Given the description of an element on the screen output the (x, y) to click on. 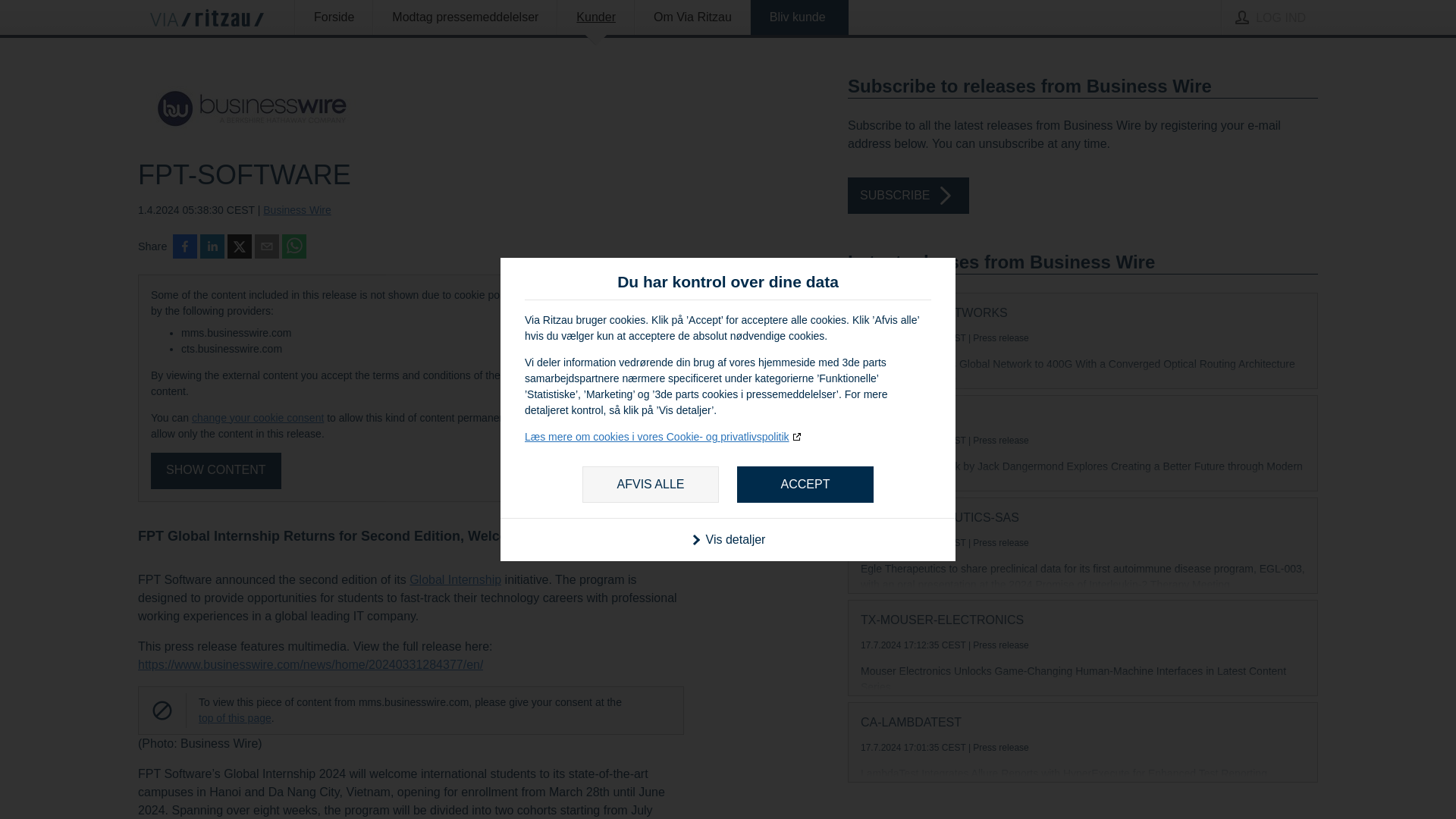
Vis detaljer (727, 539)
Kunder (595, 17)
Om Via Ritzau (691, 17)
AFVIS ALLE (650, 484)
Modtag pressemeddelelser (465, 17)
ACCEPT (804, 484)
Forside (333, 17)
